Given the description of an element on the screen output the (x, y) to click on. 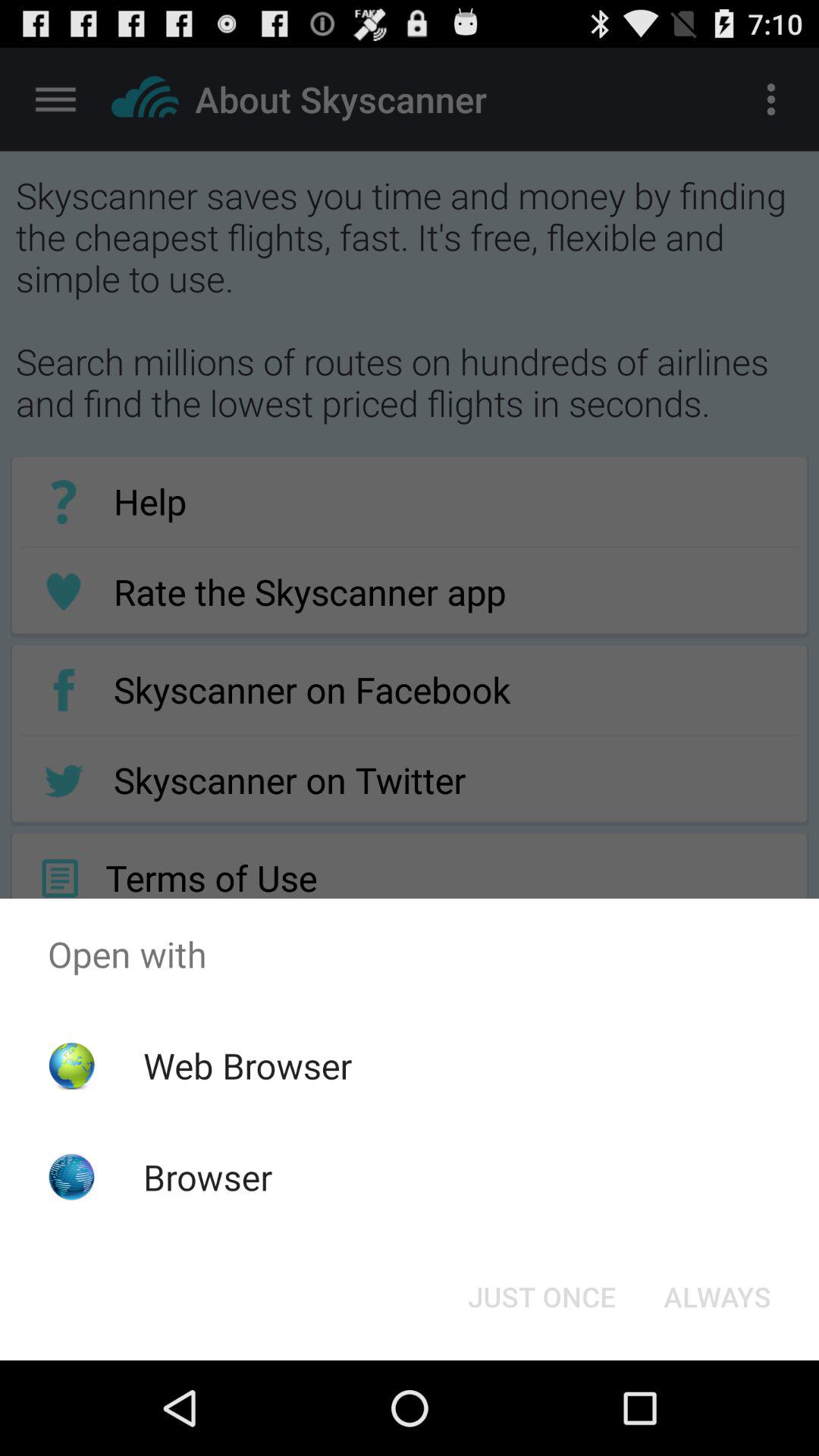
flip until the always (717, 1296)
